Given the description of an element on the screen output the (x, y) to click on. 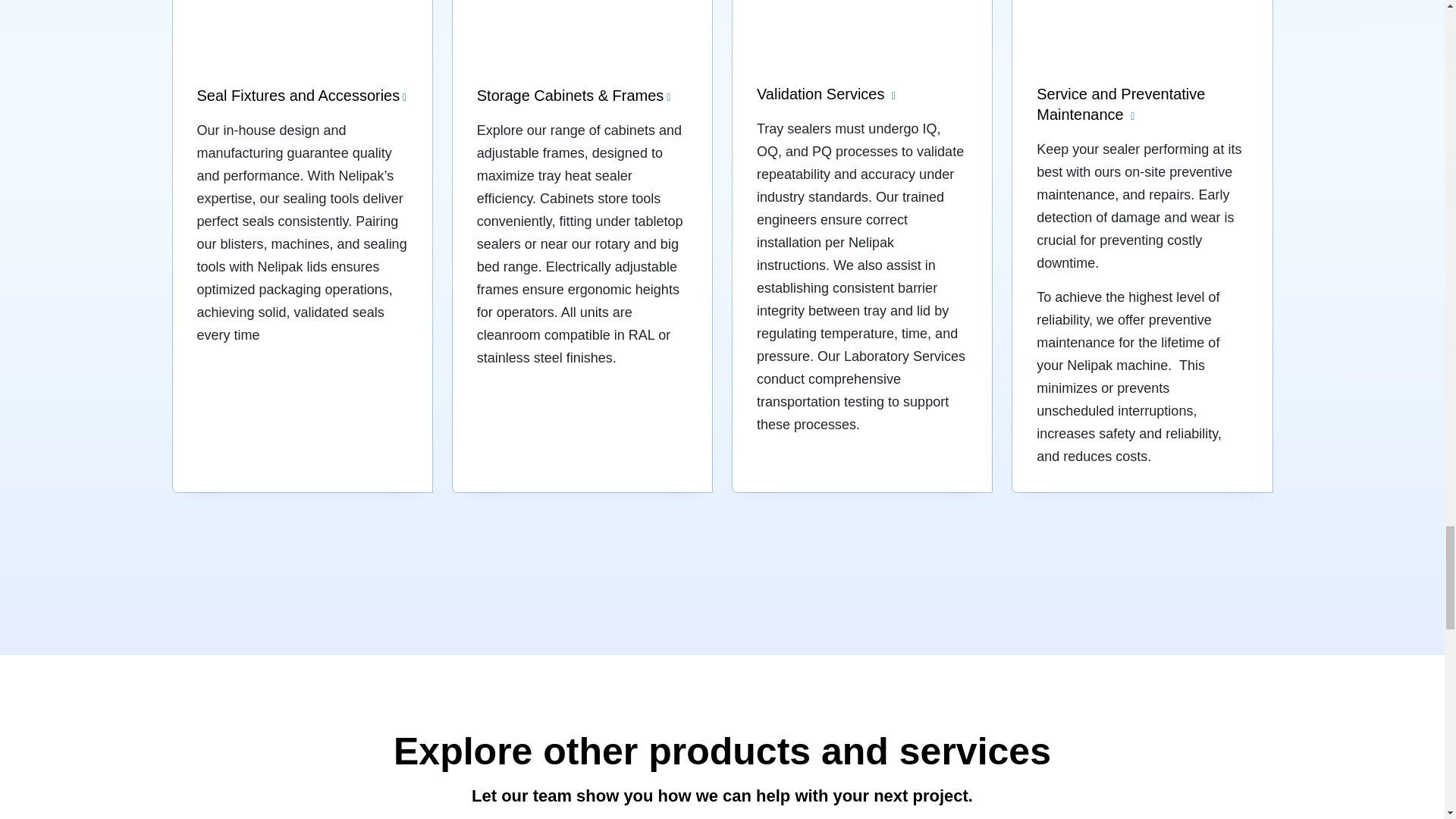
Storage Cabinets (581, 246)
Seal Fixtures (302, 246)
Laboratory Services (861, 246)
